Given the description of an element on the screen output the (x, y) to click on. 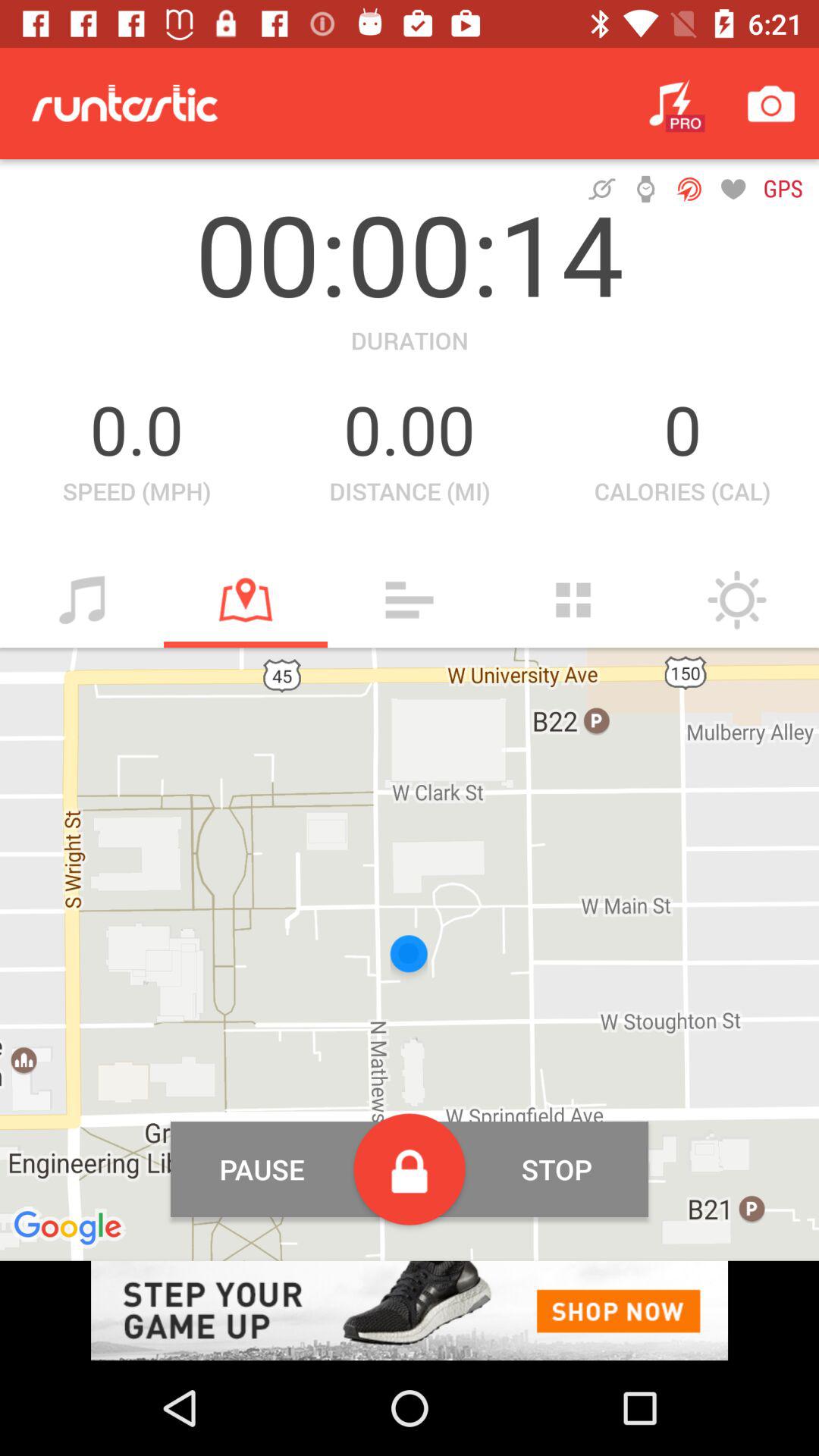
play music (81, 599)
